Given the description of an element on the screen output the (x, y) to click on. 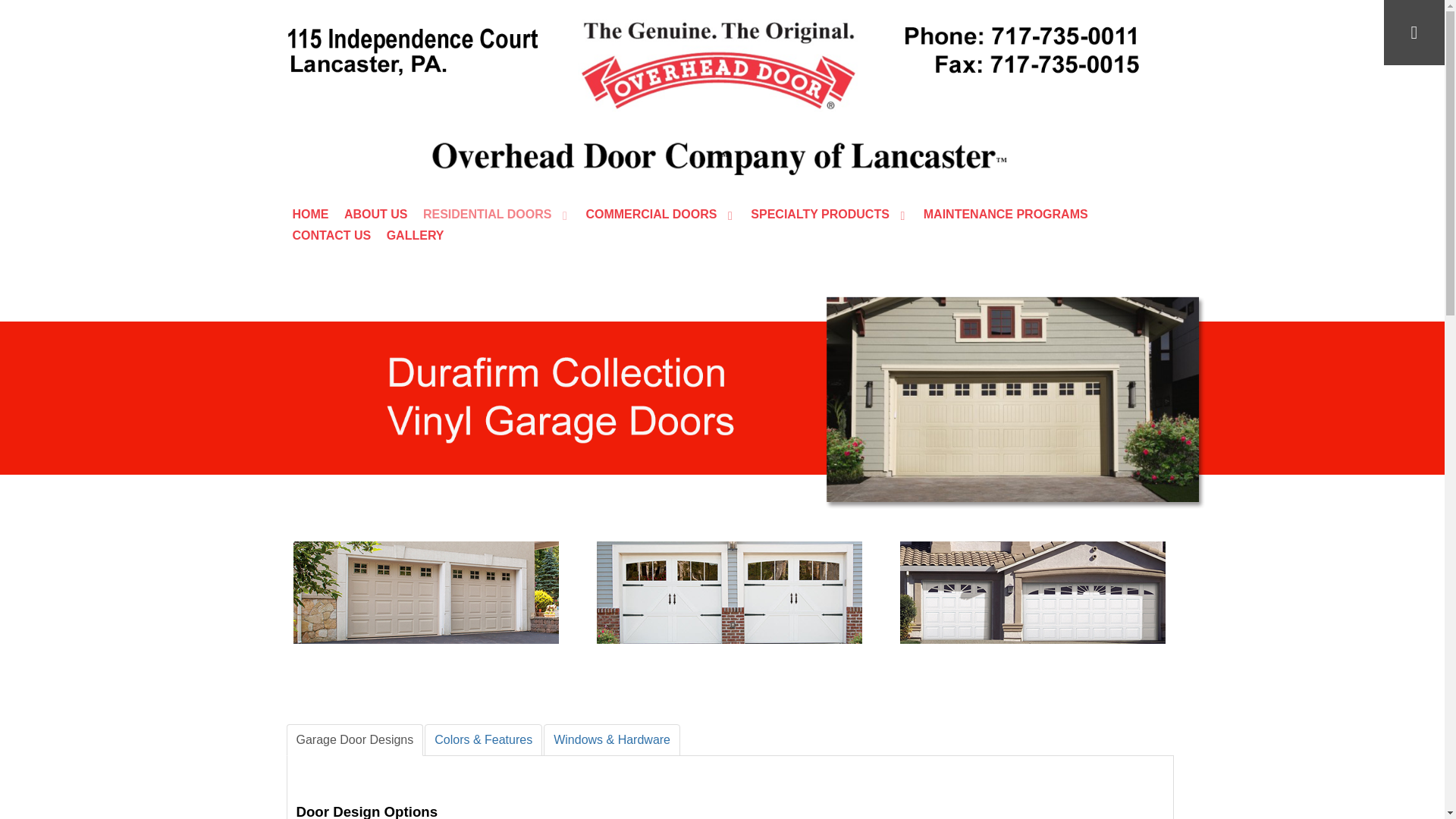
ABOUT US (375, 214)
RESIDENTIAL DOORS (496, 214)
HOME (310, 214)
COMMERCIAL DOORS (660, 214)
